Given the description of an element on the screen output the (x, y) to click on. 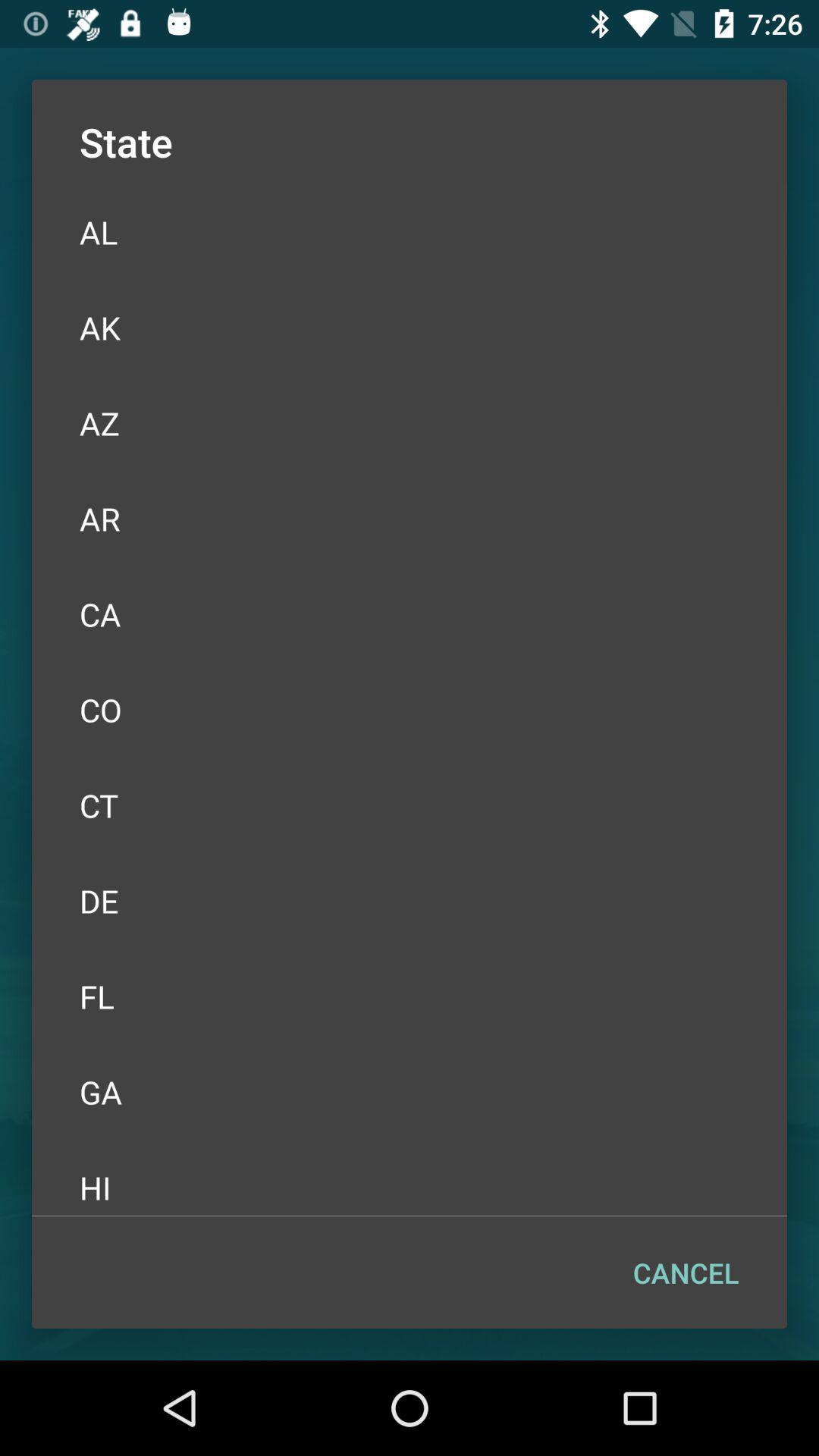
swipe to the ga (409, 1091)
